Given the description of an element on the screen output the (x, y) to click on. 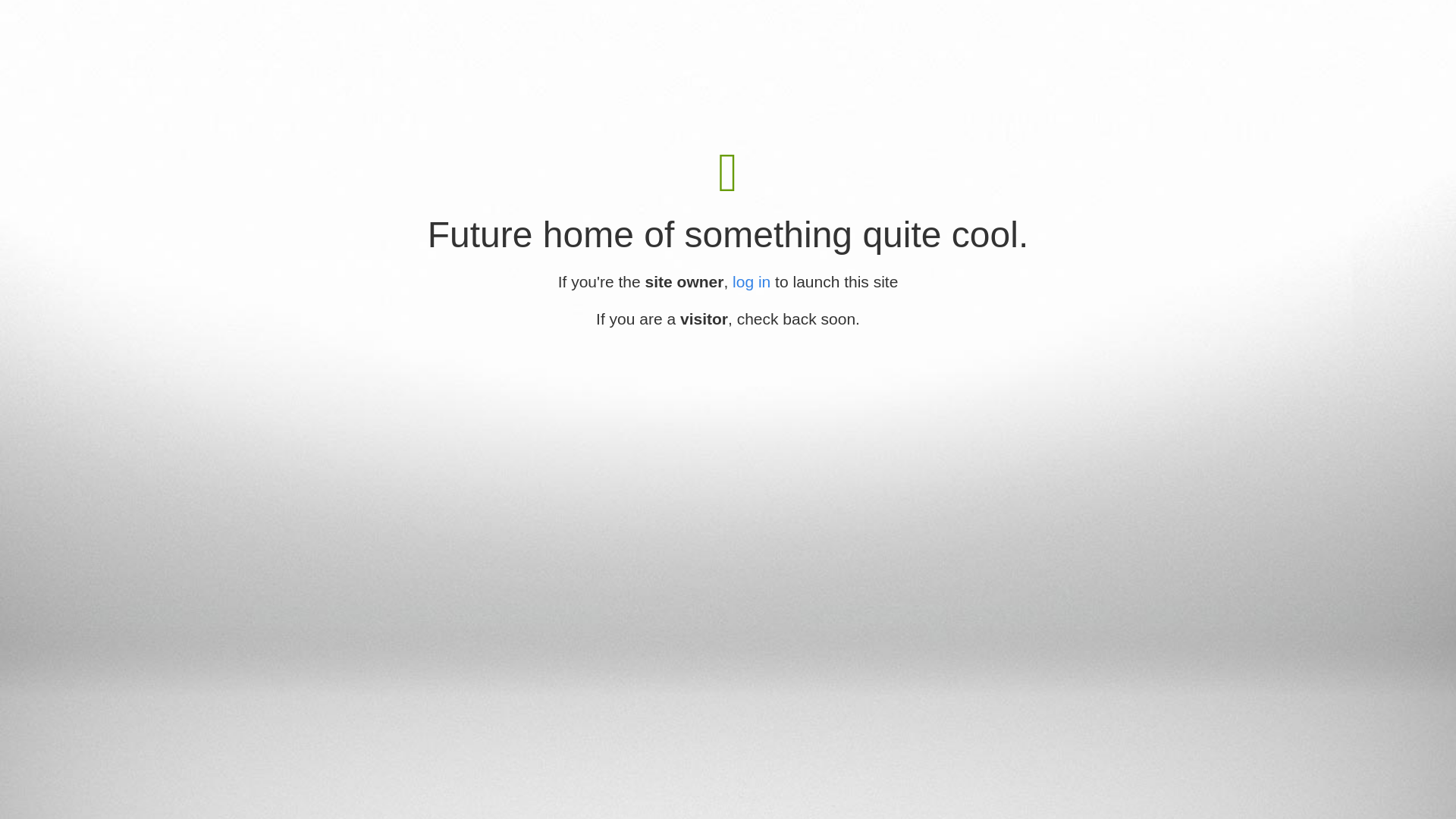
log in Element type: text (751, 281)
